Given the description of an element on the screen output the (x, y) to click on. 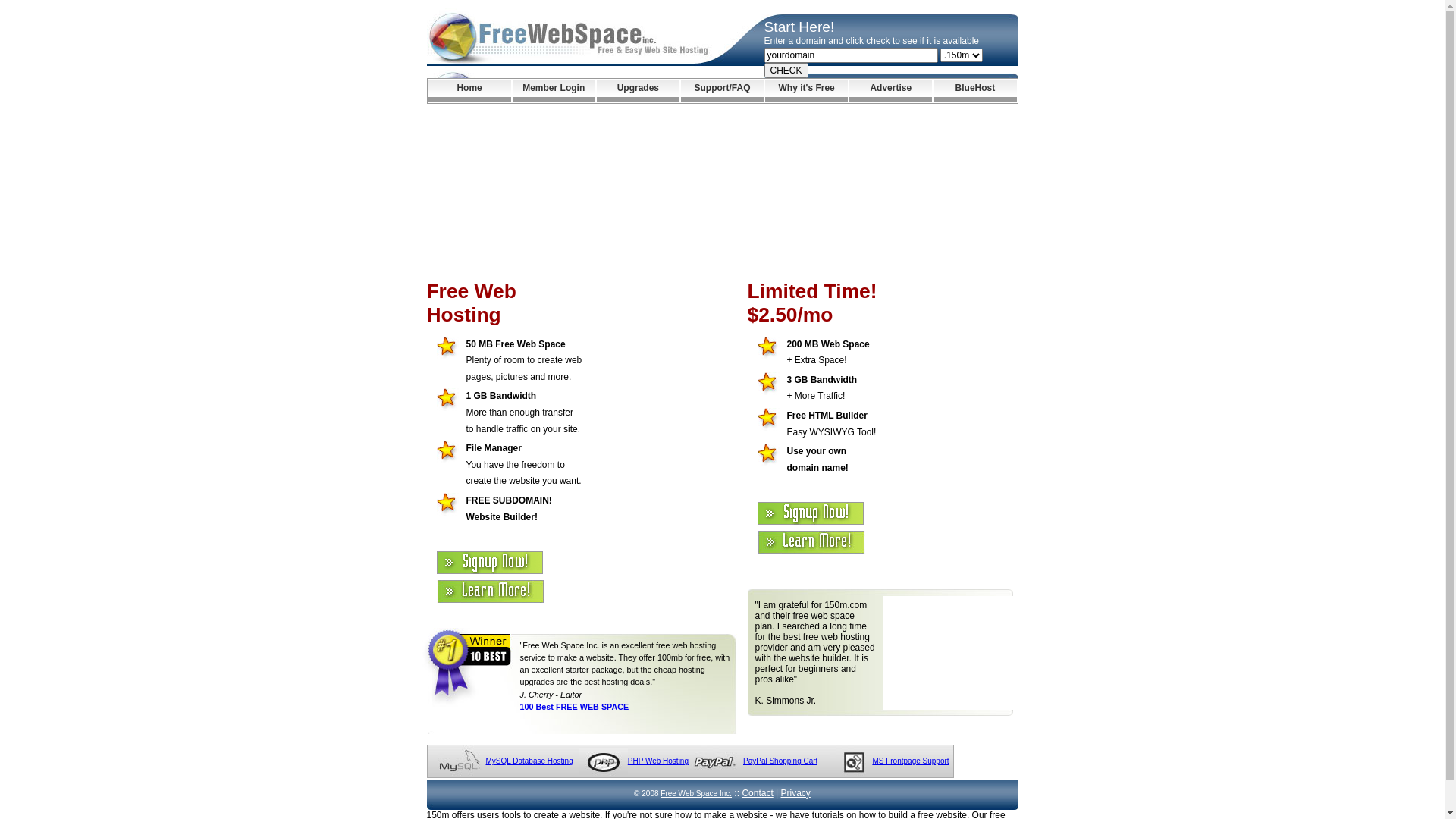
100 Best FREE WEB SPACE Element type: text (574, 706)
MS Frontpage Support Element type: text (910, 760)
PHP Web Hosting Element type: text (657, 760)
Free Web Space Inc. Element type: text (695, 793)
Contact Element type: text (756, 792)
PayPal Shopping Cart Element type: text (780, 760)
Why it's Free Element type: text (806, 90)
CHECK Element type: text (786, 70)
MySQL Database Hosting Element type: text (528, 760)
Privacy Element type: text (795, 792)
Home Element type: text (468, 90)
Support/FAQ Element type: text (721, 90)
Advertise Element type: text (890, 90)
Member Login Element type: text (553, 90)
Upgrades Element type: text (637, 90)
BlueHost Element type: text (974, 90)
